Given the description of an element on the screen output the (x, y) to click on. 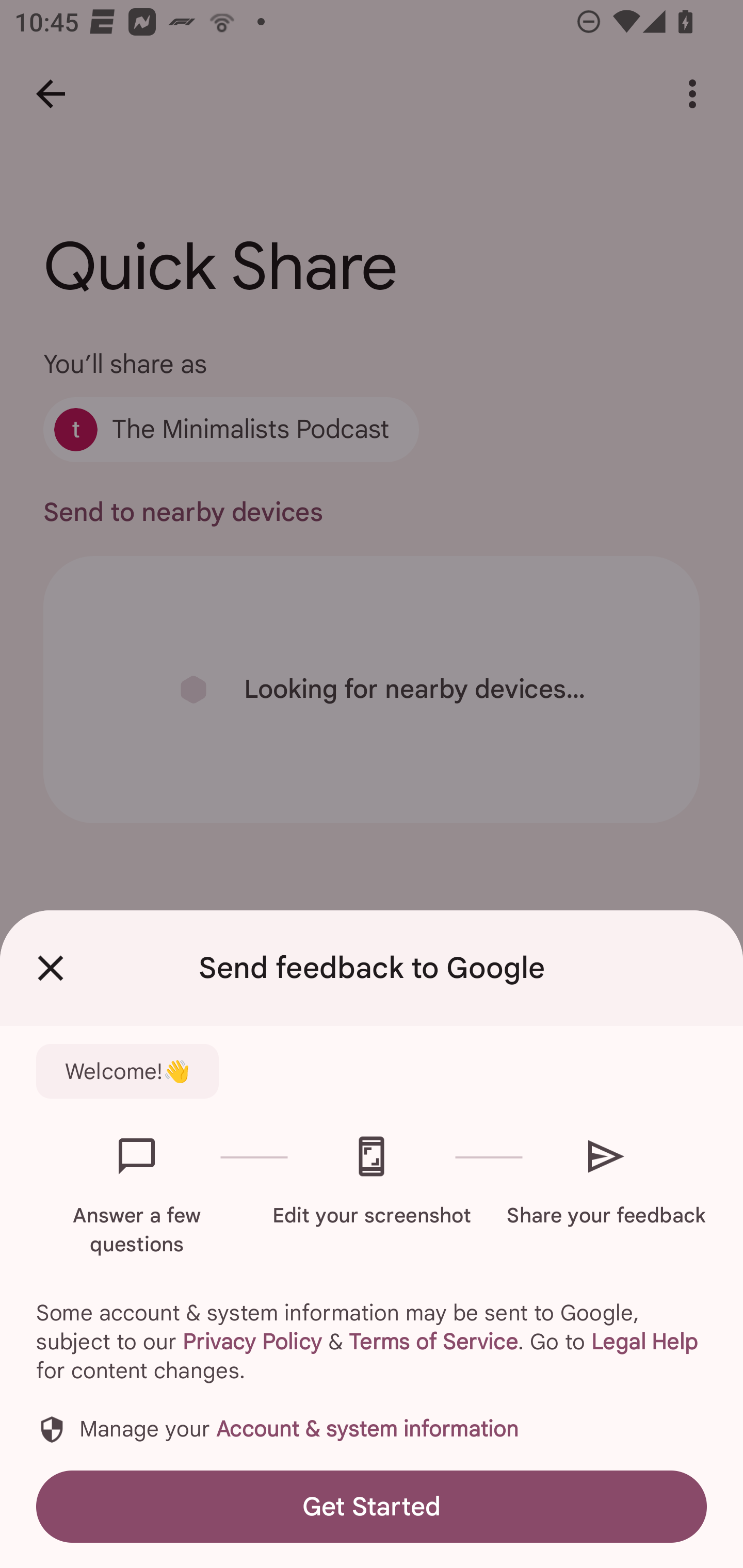
Close Feedback (50, 968)
Get Started (371, 1505)
